Given the description of an element on the screen output the (x, y) to click on. 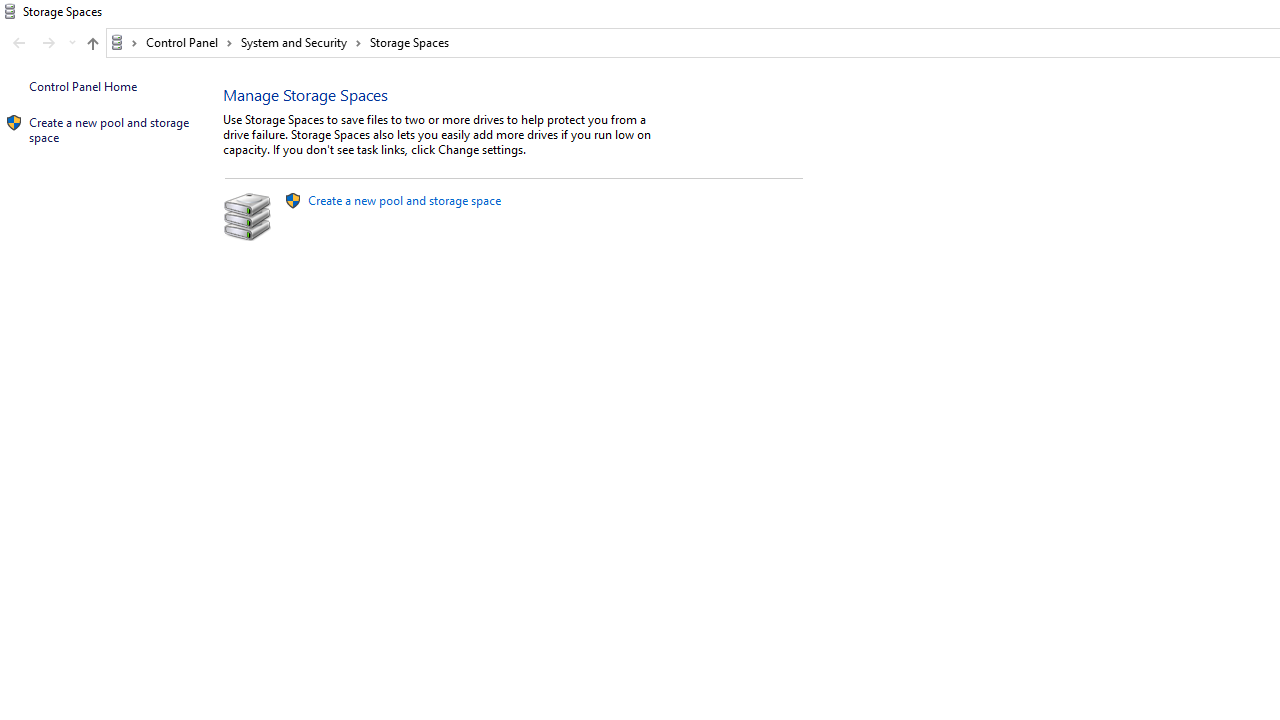
Icon (13, 123)
Control Panel Home (82, 86)
Up to "System and Security" (Alt + Up Arrow) (92, 43)
Navigation buttons (41, 43)
Forward (Alt + Right Arrow) (49, 43)
Up band toolbar (92, 46)
Recent locations (71, 43)
System and Security (301, 42)
Back (Alt + Left Arrow) (18, 43)
System (10, 11)
System (10, 11)
Storage Spaces (409, 42)
All locations (124, 42)
Create a new pool and storage space (404, 200)
Control Panel (189, 42)
